Given the description of an element on the screen output the (x, y) to click on. 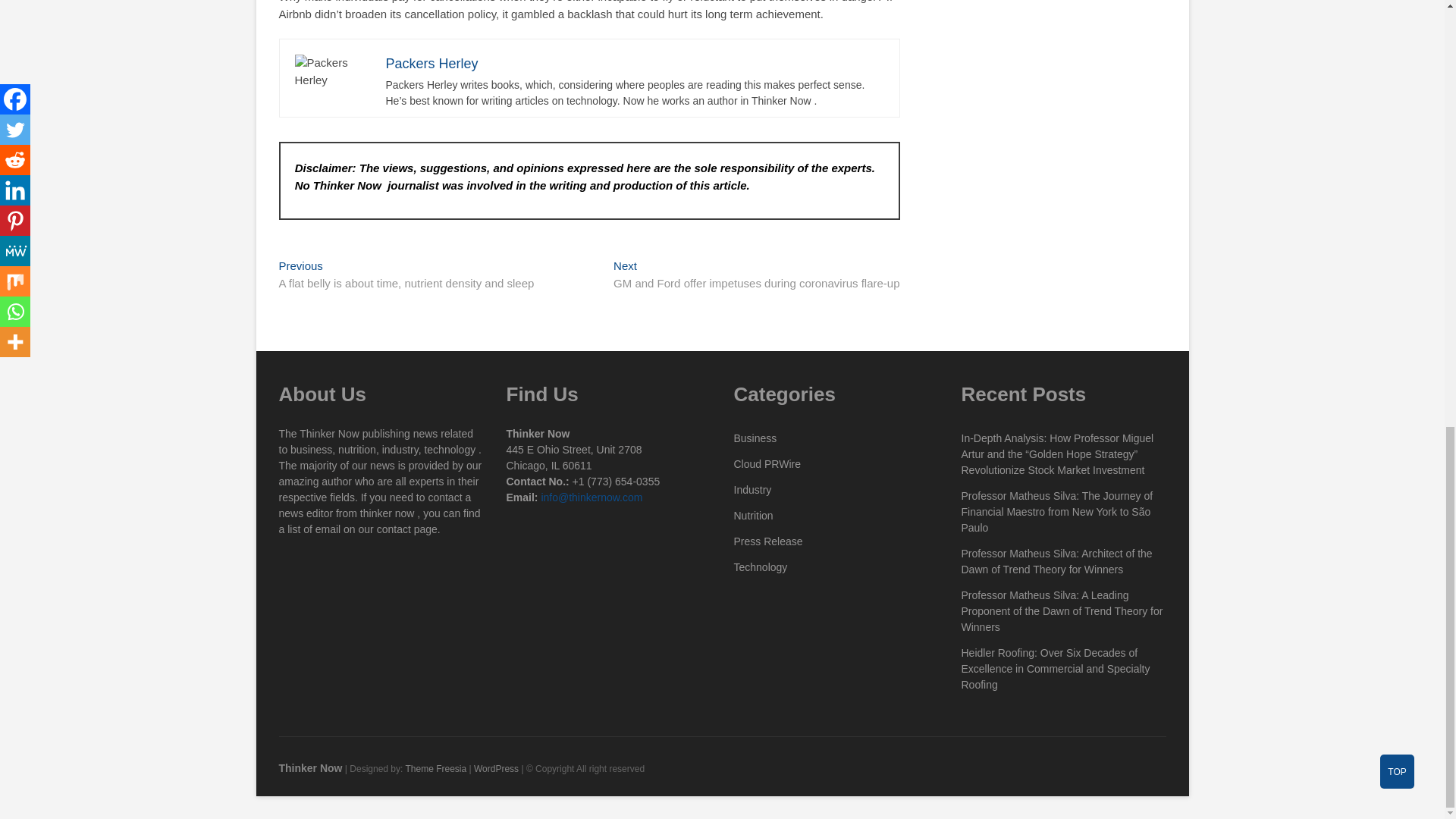
Packers Herley (431, 63)
